Given the description of an element on the screen output the (x, y) to click on. 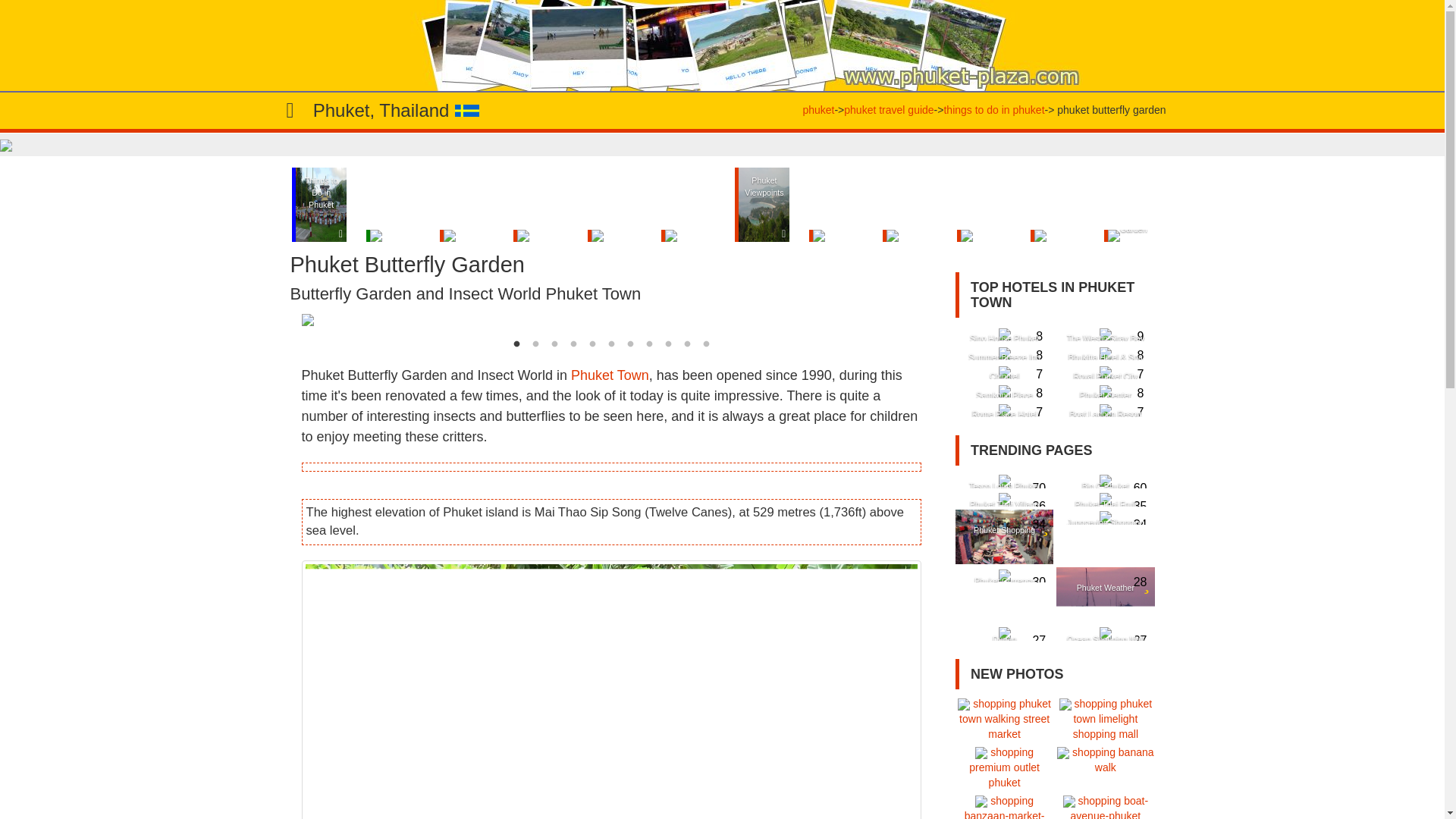
phuket travel guide (888, 110)
phuket (818, 110)
things to do in phuket (993, 110)
